Given the description of an element on the screen output the (x, y) to click on. 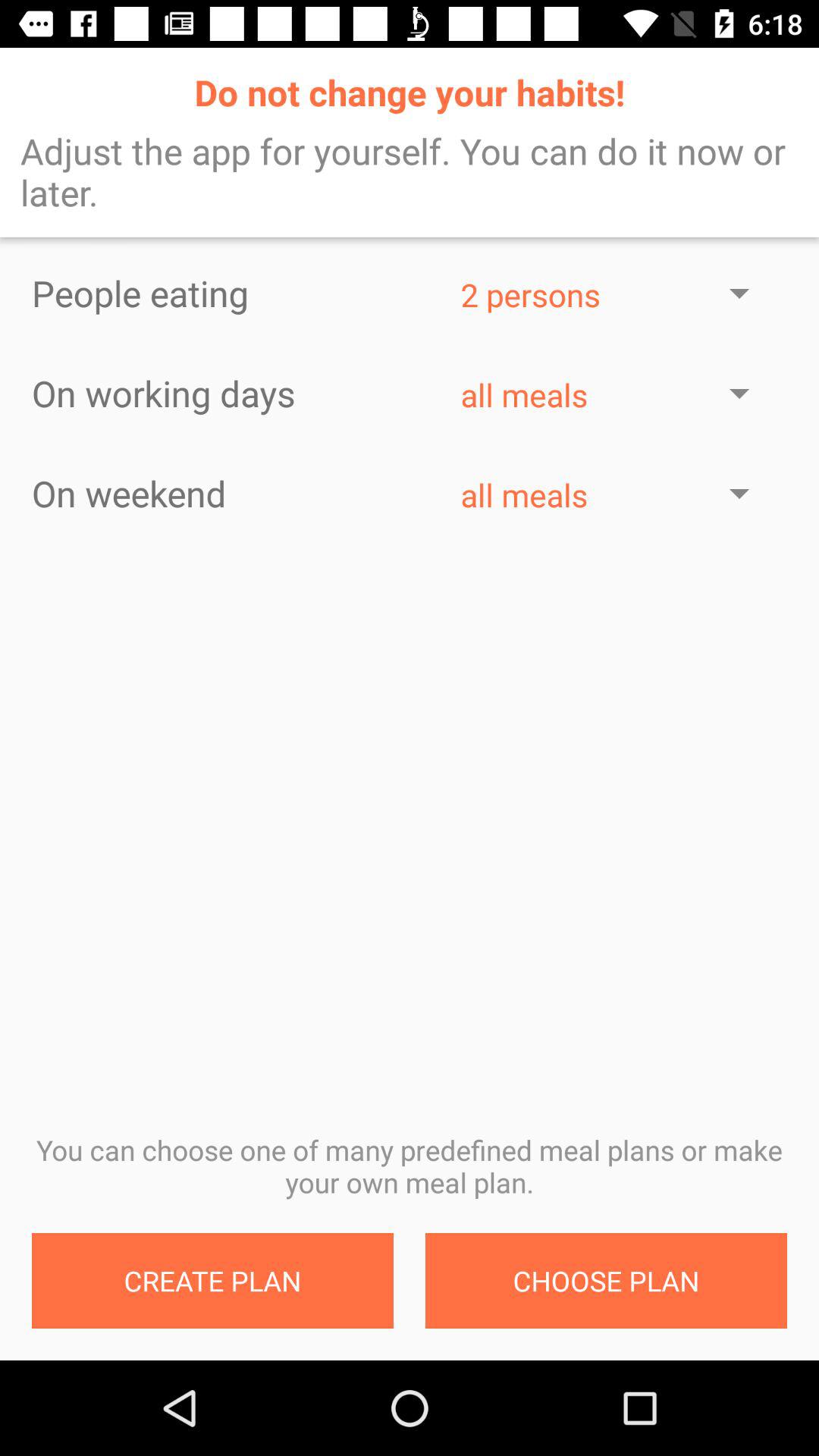
launch create plan icon (212, 1280)
